Given the description of an element on the screen output the (x, y) to click on. 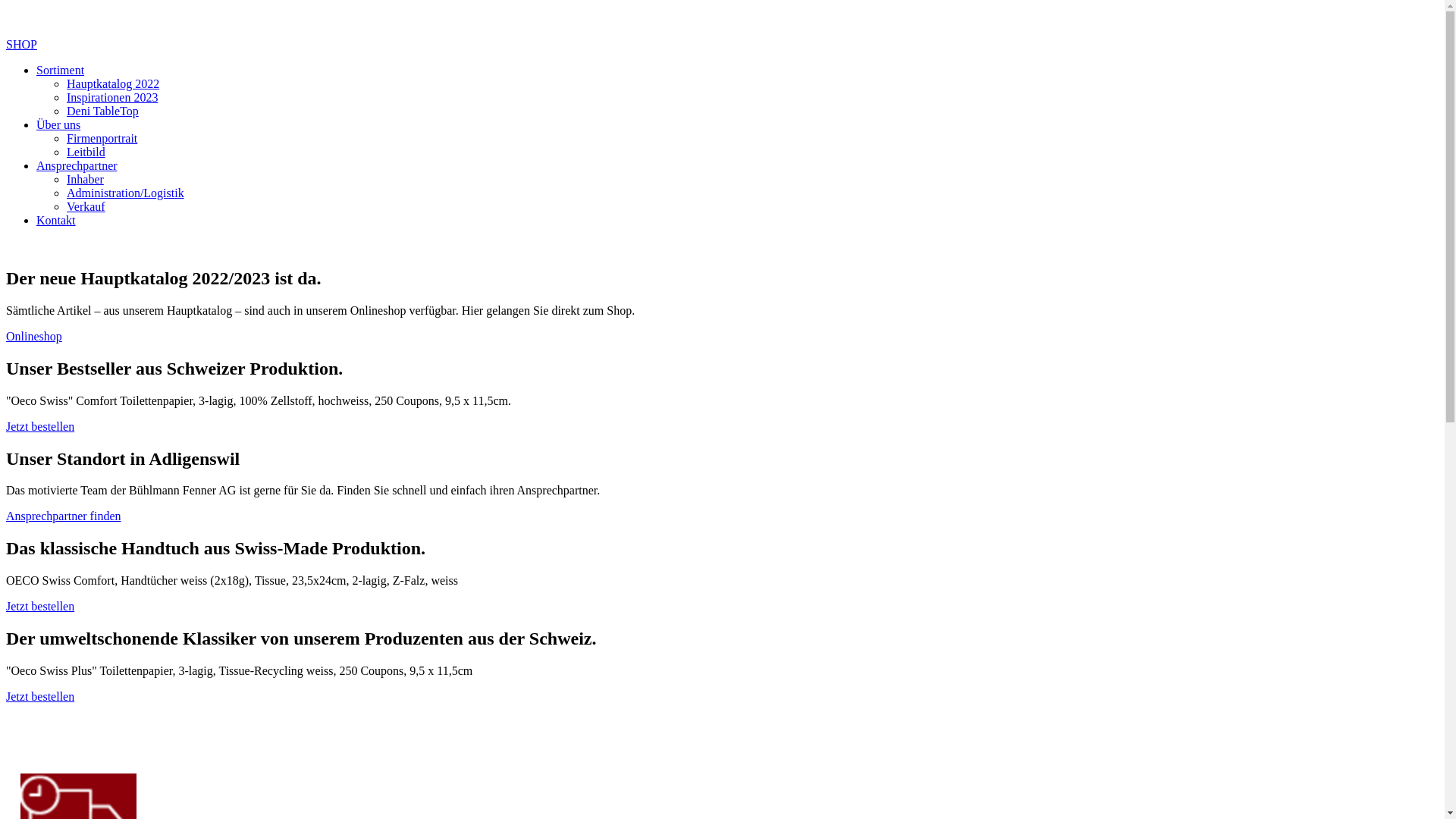
Sortiment Element type: text (60, 69)
Jetzt bestellen Element type: text (40, 605)
Administration/Logistik Element type: text (125, 192)
Firmenportrait Element type: text (101, 137)
Inhaber Element type: text (84, 178)
SHOP Element type: text (21, 37)
Jetzt bestellen Element type: text (40, 426)
Onlineshop Element type: text (34, 335)
Ansprechpartner Element type: text (76, 165)
Kontakt Element type: text (55, 219)
Inspirationen 2023 Element type: text (111, 97)
Leitbild Element type: text (85, 151)
Verkauf Element type: text (85, 206)
Ansprechpartner finden Element type: text (63, 515)
Deni TableTop Element type: text (102, 110)
Jetzt bestellen Element type: text (40, 696)
Hauptkatalog 2022 Element type: text (112, 83)
